Given the description of an element on the screen output the (x, y) to click on. 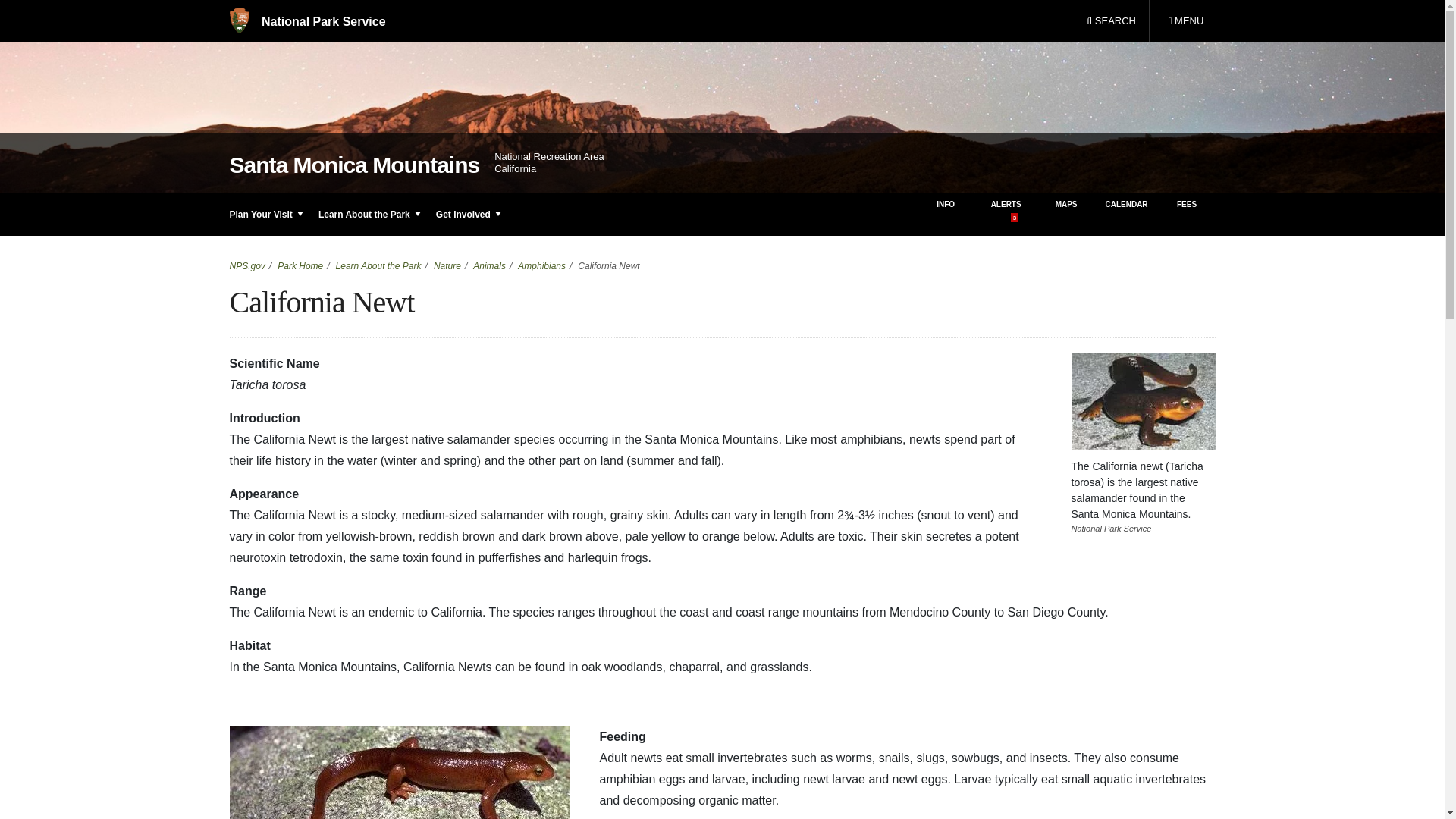
SEARCH (1111, 20)
National Park Service (307, 20)
